Given the description of an element on the screen output the (x, y) to click on. 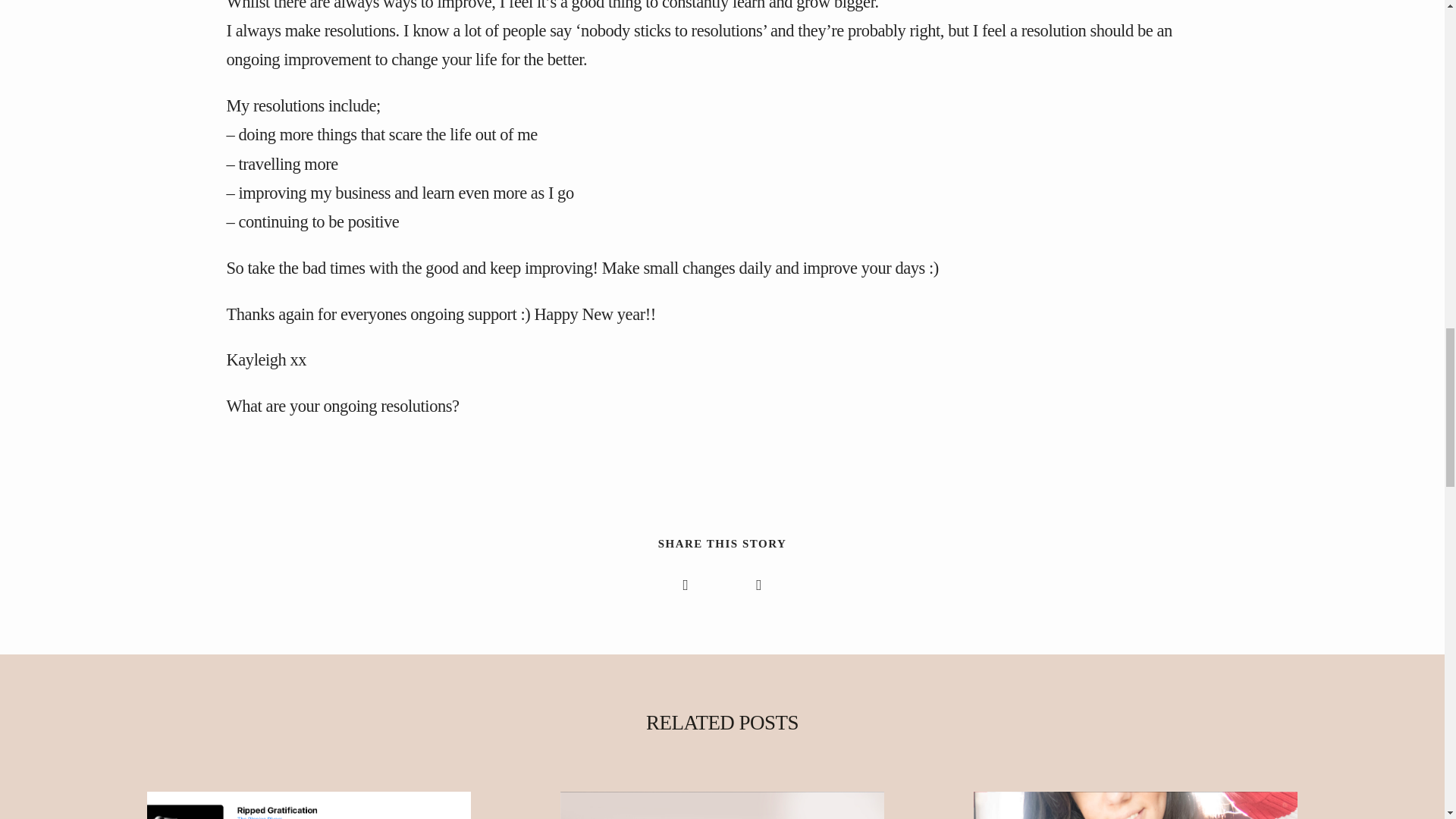
my hand is on an album cover! (309, 805)
NEW WEBSITE (1136, 805)
STAR MAP (722, 805)
